Given the description of an element on the screen output the (x, y) to click on. 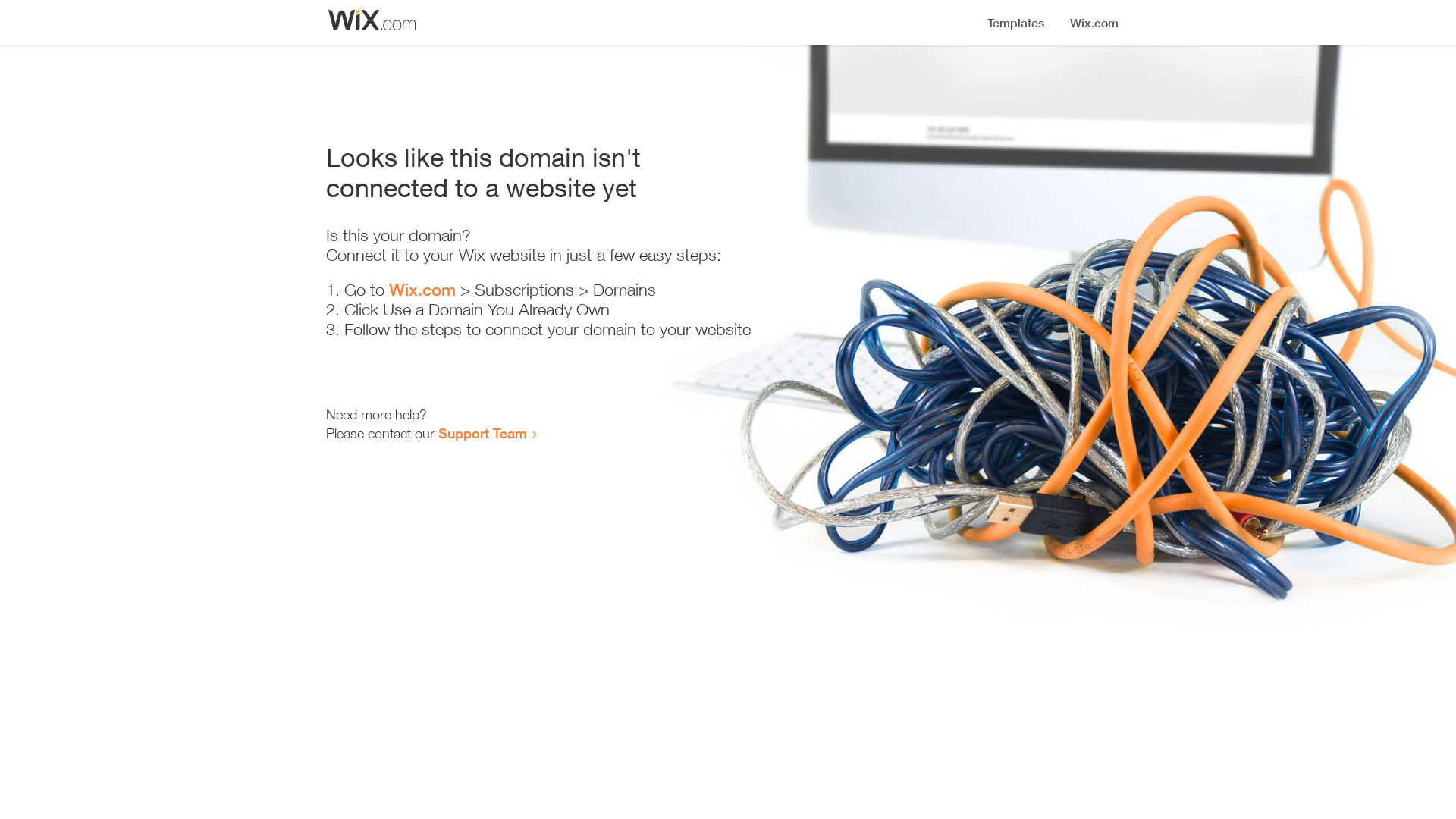
Support Team Element type: text (482, 432)
Wix.com Element type: text (422, 289)
